Given the description of an element on the screen output the (x, y) to click on. 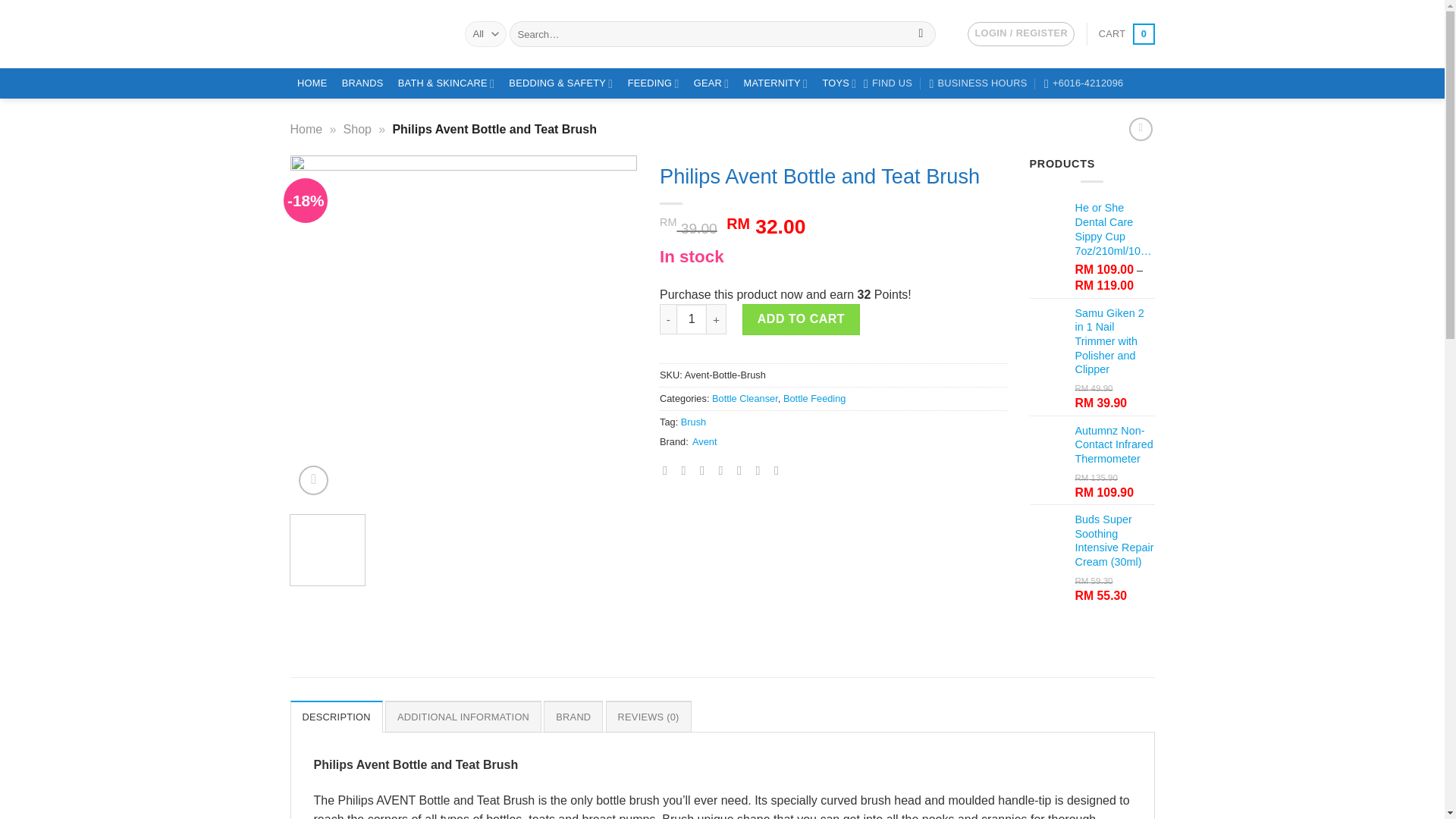
Search (920, 33)
Cart (1126, 34)
1 (691, 318)
Zoom (313, 480)
HOME (311, 82)
Baby Needs Store (1126, 34)
BRANDS (887, 82)
